Given the description of an element on the screen output the (x, y) to click on. 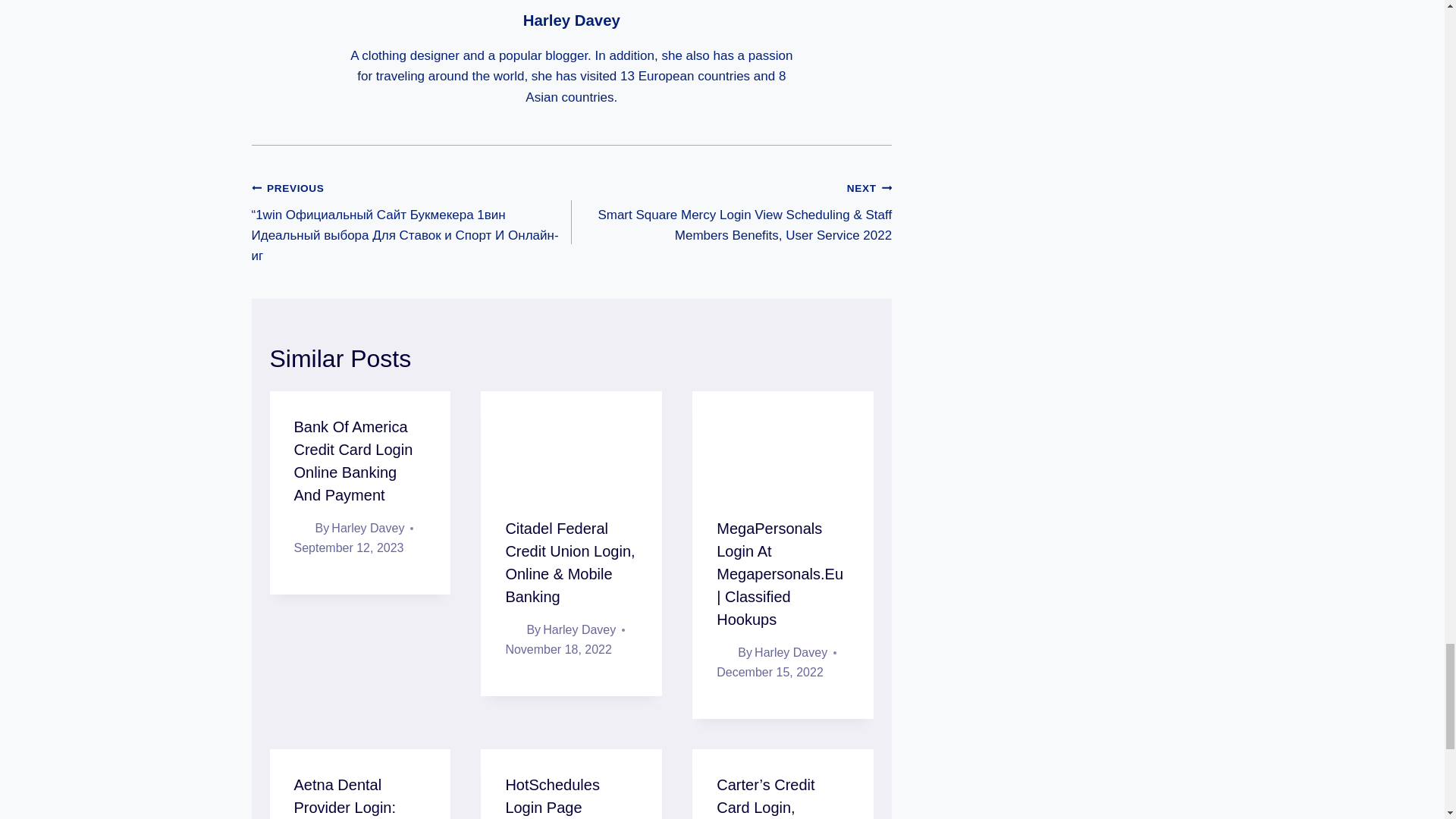
Harley Davey (367, 527)
Posts by Harley Davey (571, 20)
Harley Davey (571, 20)
Bank Of America Credit Card Login Online Banking And Payment (353, 460)
Harley Davey (579, 629)
